Given the description of an element on the screen output the (x, y) to click on. 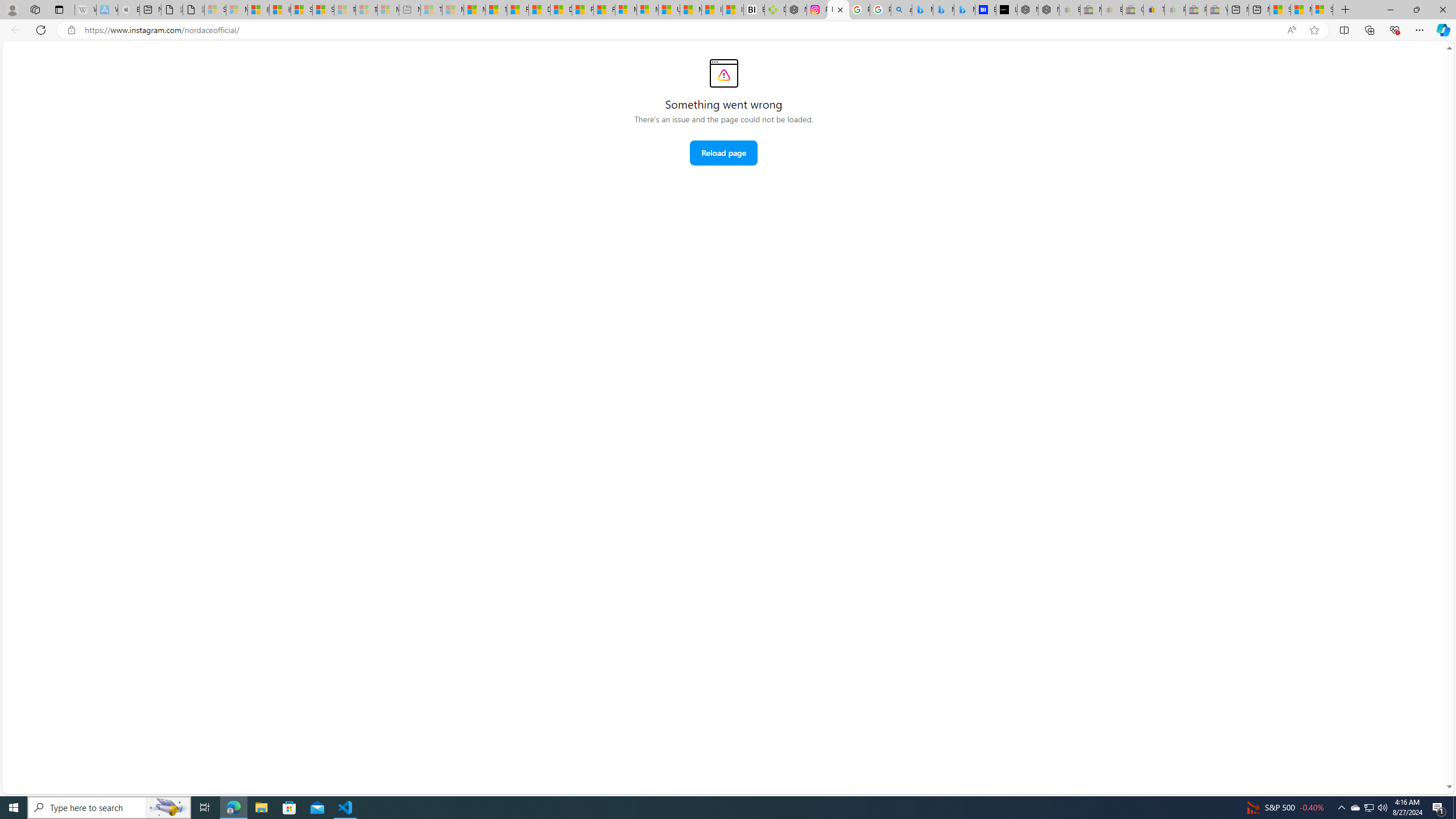
Payments Terms of Use | eBay.com - Sleeping (1174, 9)
Threats and offensive language policy | eBay (1153, 9)
